Given the description of an element on the screen output the (x, y) to click on. 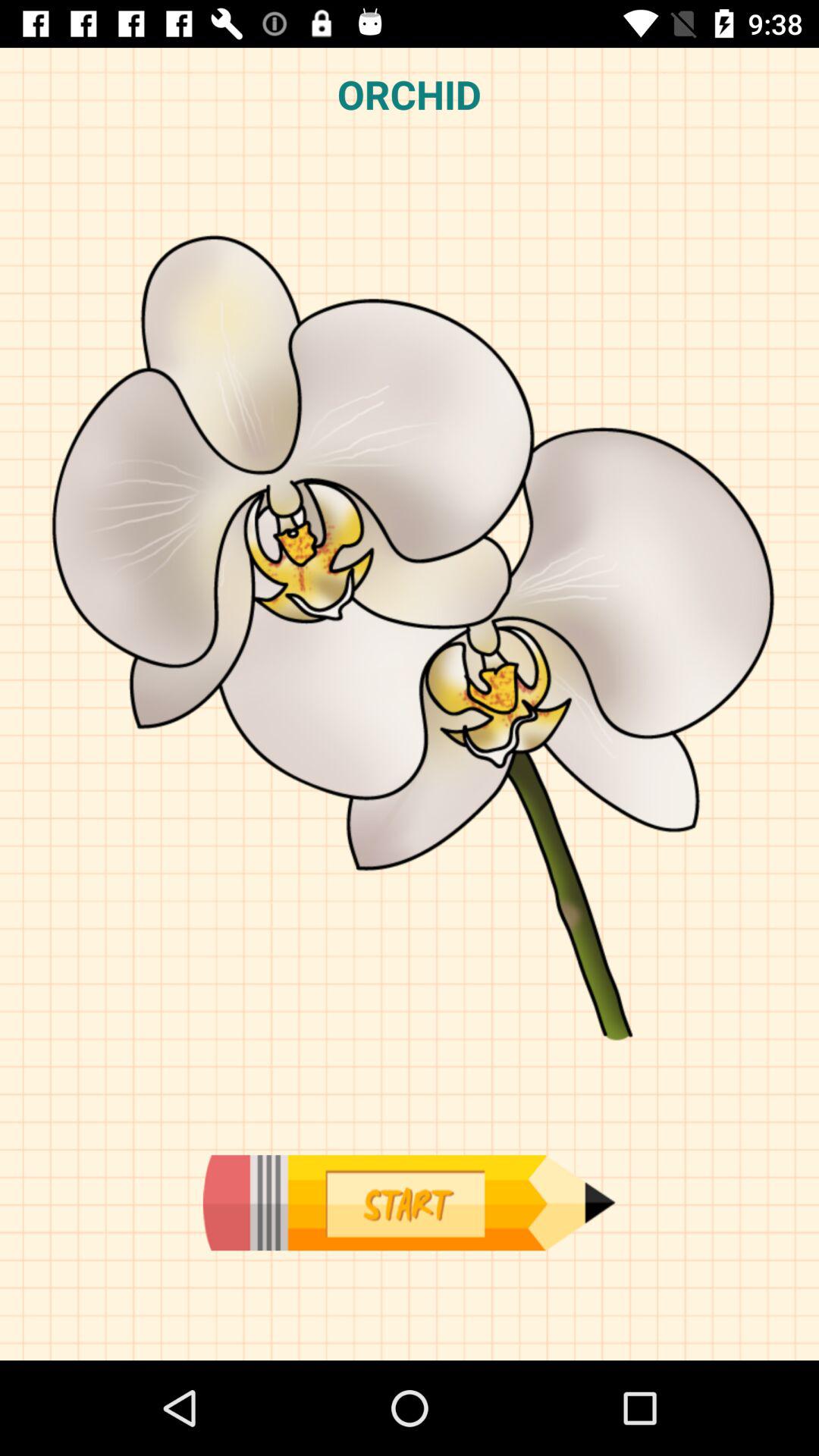
start (409, 1202)
